Given the description of an element on the screen output the (x, y) to click on. 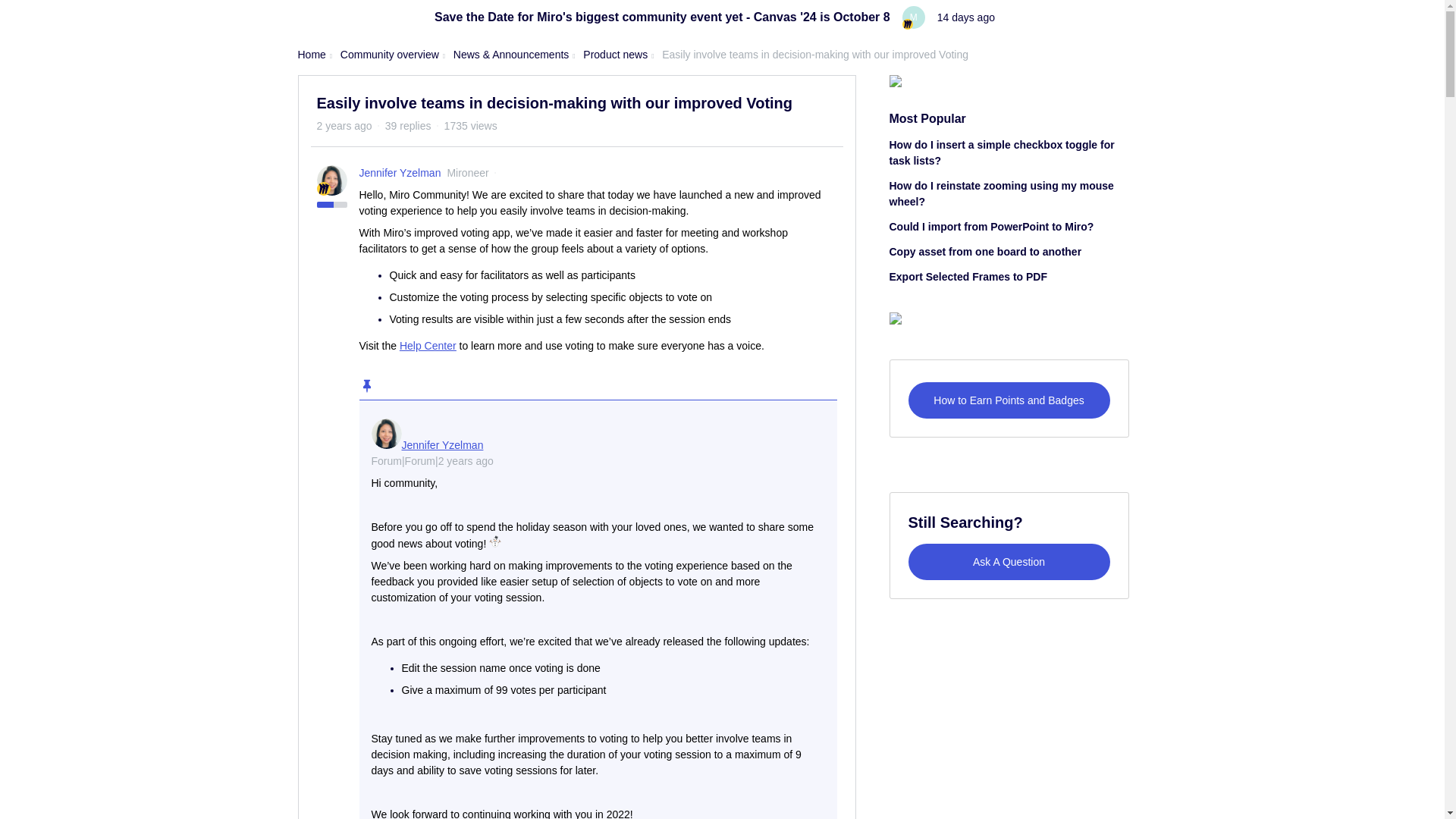
Help Center (427, 345)
M (913, 16)
Jennifer Yzelman (442, 444)
Jennifer Yzelman (400, 172)
39 replies (407, 125)
Community overview (389, 54)
Mironeer (907, 23)
Product news (615, 54)
Home (310, 54)
Mironeer (466, 173)
